Given the description of an element on the screen output the (x, y) to click on. 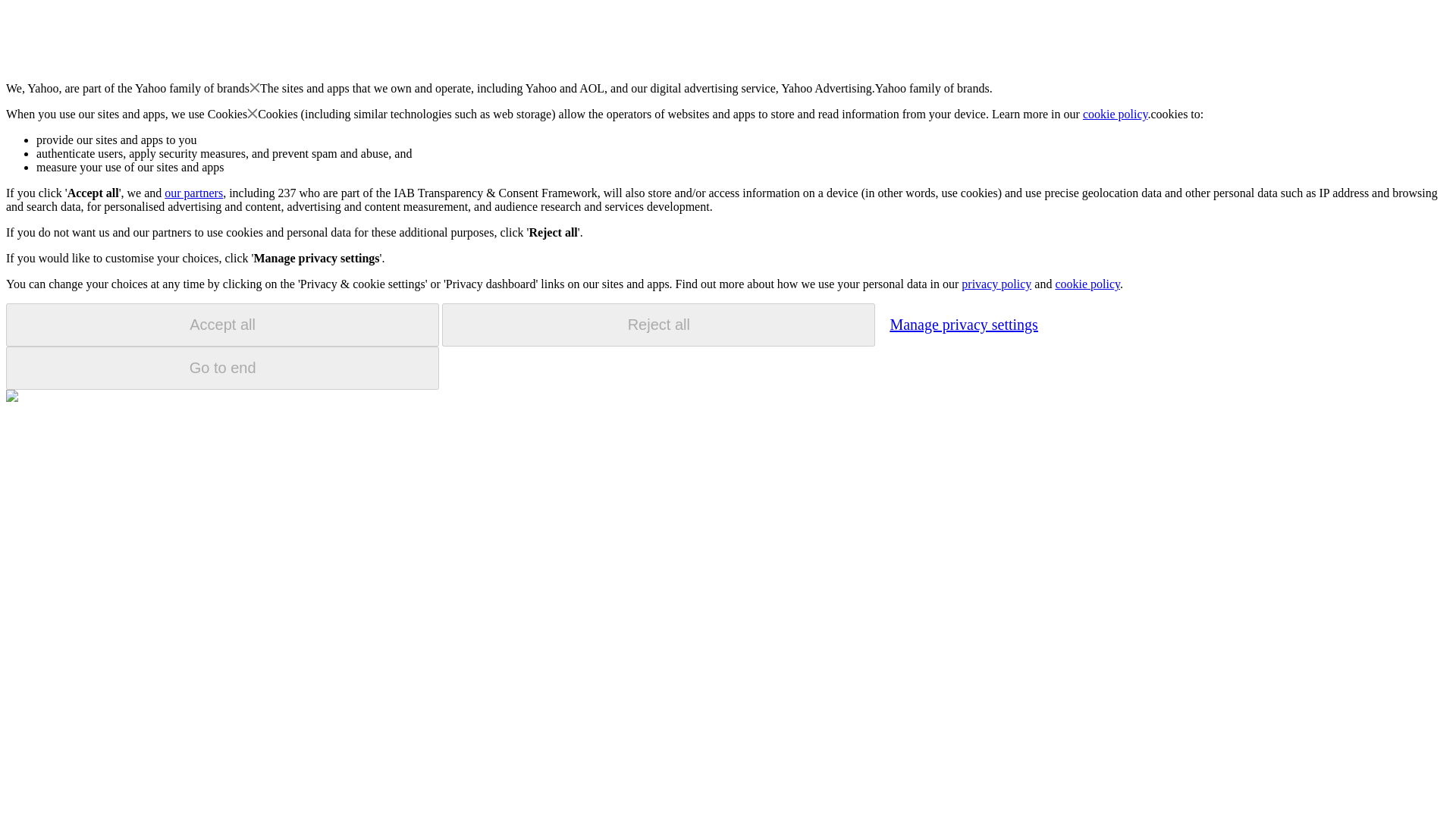
privacy policy (995, 283)
cookie policy (1115, 113)
cookie policy (1086, 283)
Go to end (222, 367)
Manage privacy settings (963, 323)
our partners (193, 192)
Accept all (222, 324)
Reject all (658, 324)
